Given the description of an element on the screen output the (x, y) to click on. 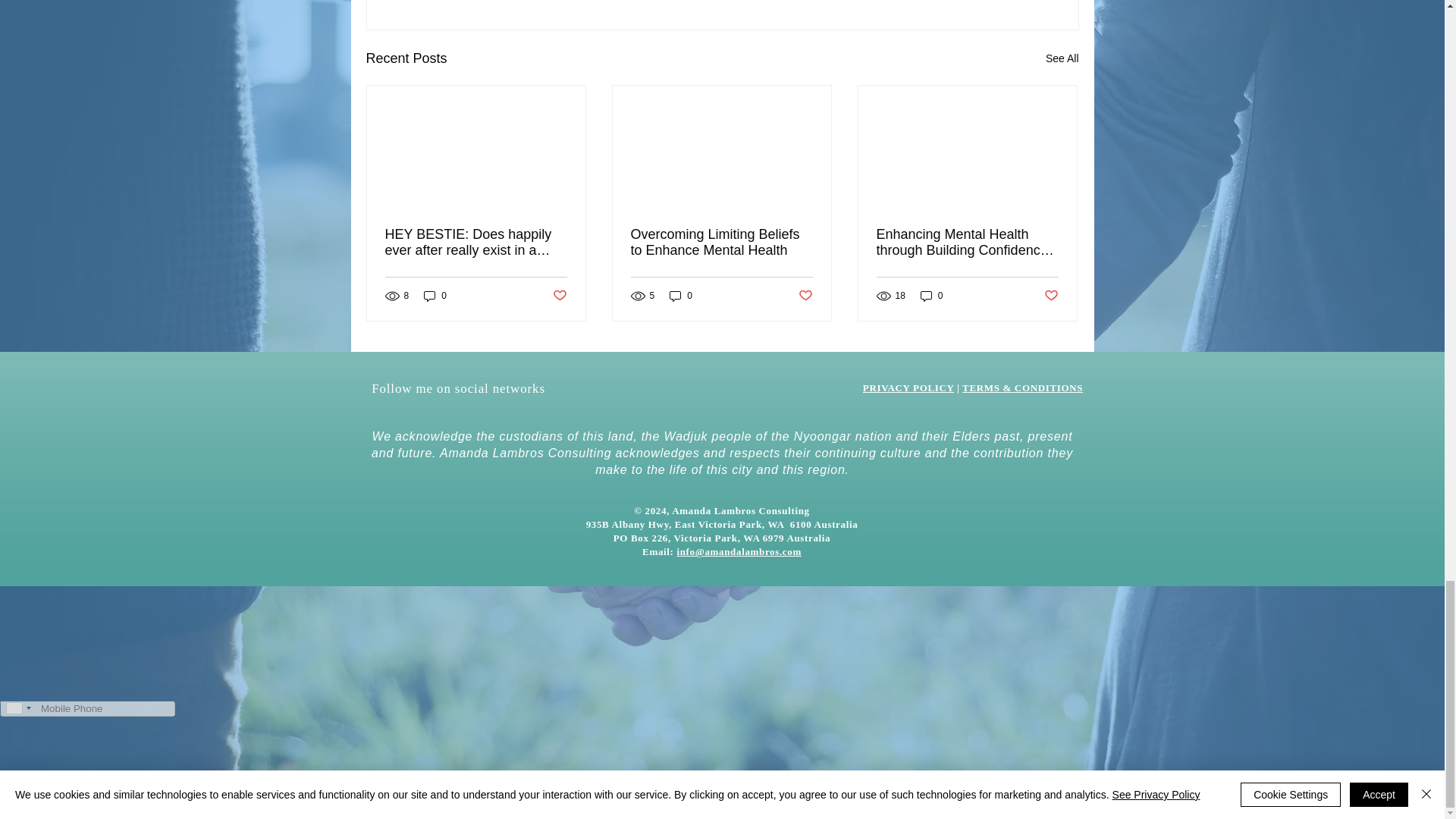
See All (1061, 58)
Post not marked as liked (558, 295)
0 (435, 296)
